Given the description of an element on the screen output the (x, y) to click on. 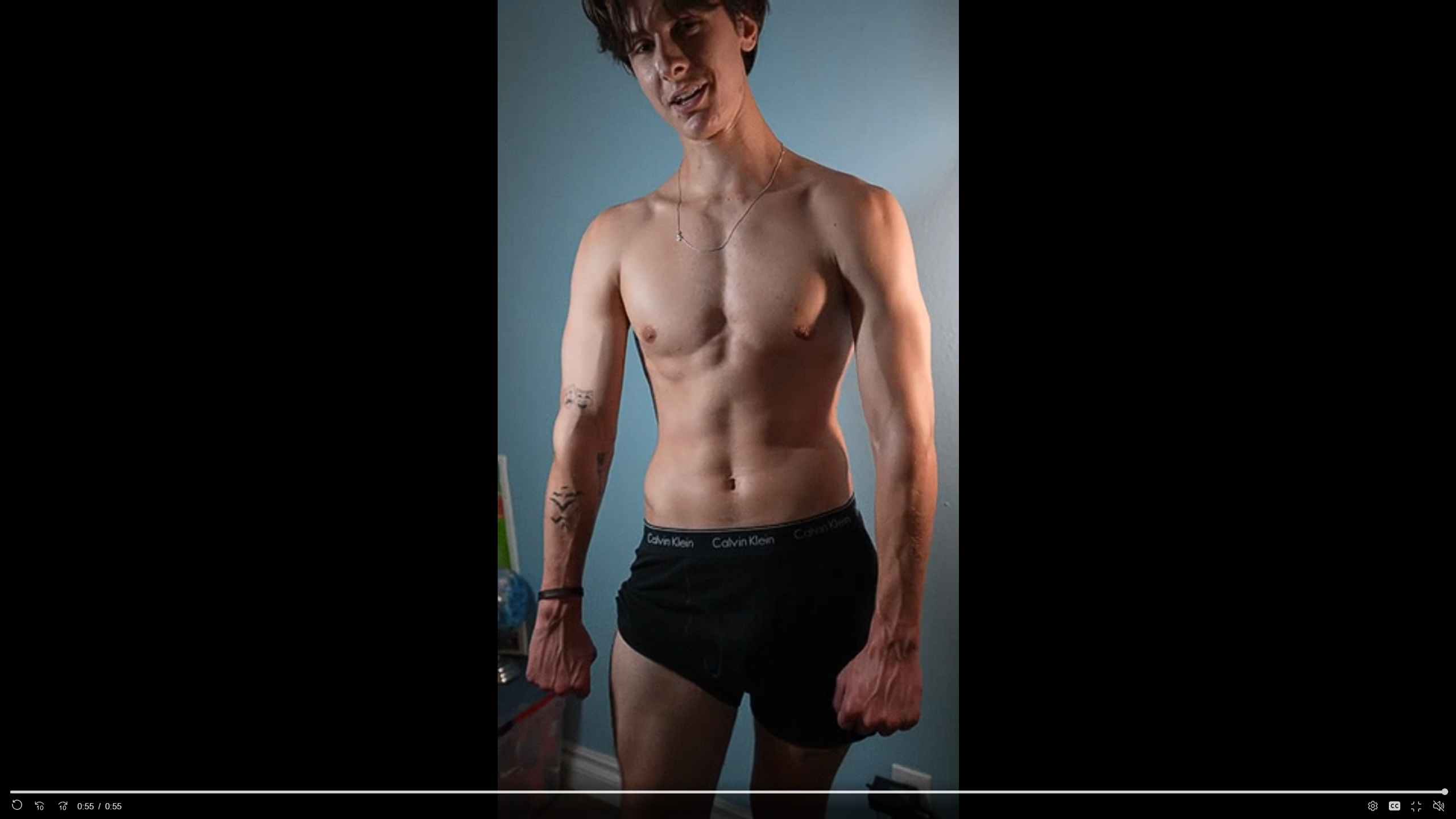
Progress Bar (727, 791)
Seek Back (39, 806)
Captions (1394, 806)
Quality Settings (1371, 806)
Unmute (1438, 805)
Seek Forward (62, 806)
Replay (17, 806)
Non-Fullscreen (1417, 806)
